Given the description of an element on the screen output the (x, y) to click on. 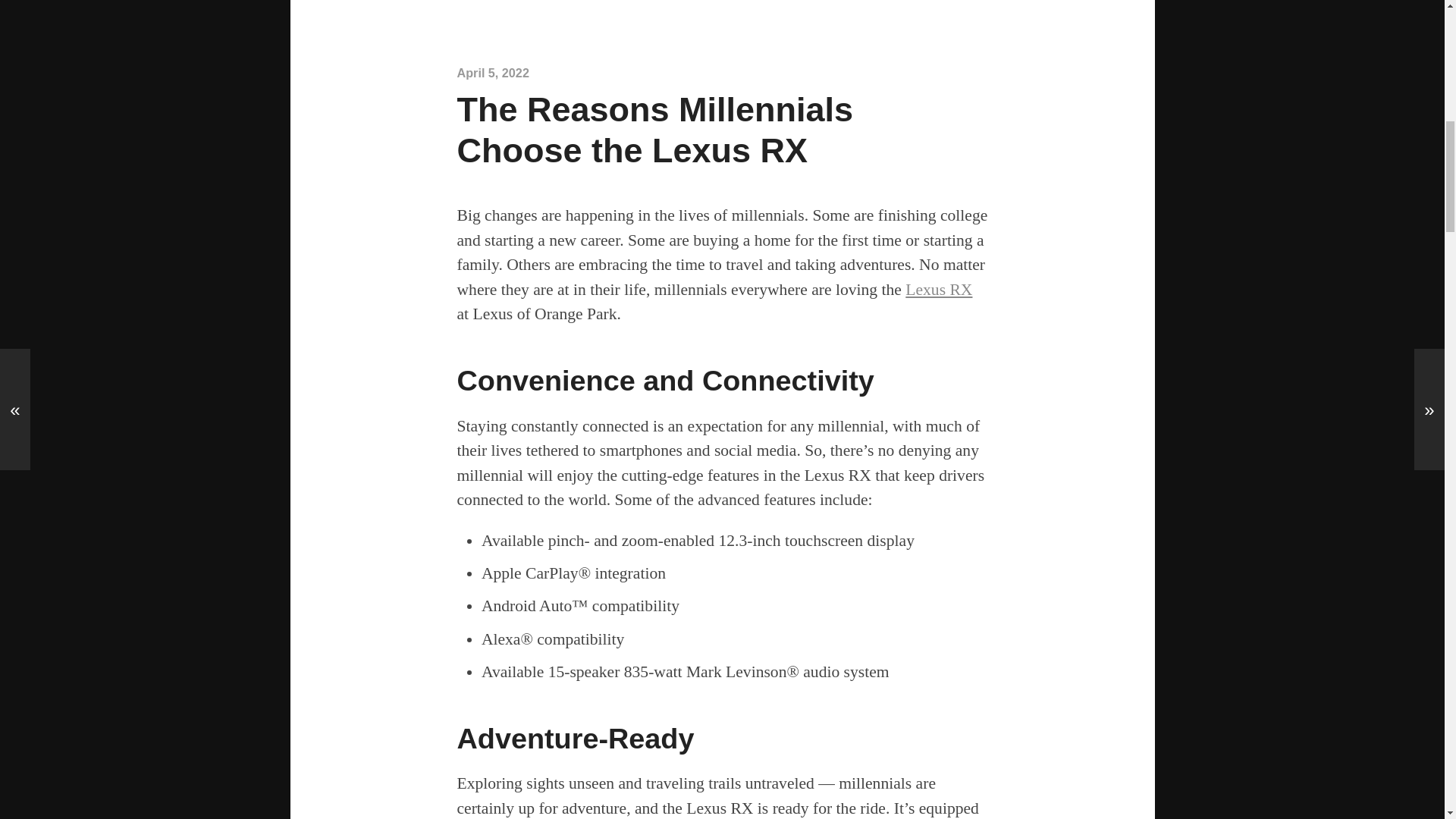
Lexus RX (938, 289)
